Given the description of an element on the screen output the (x, y) to click on. 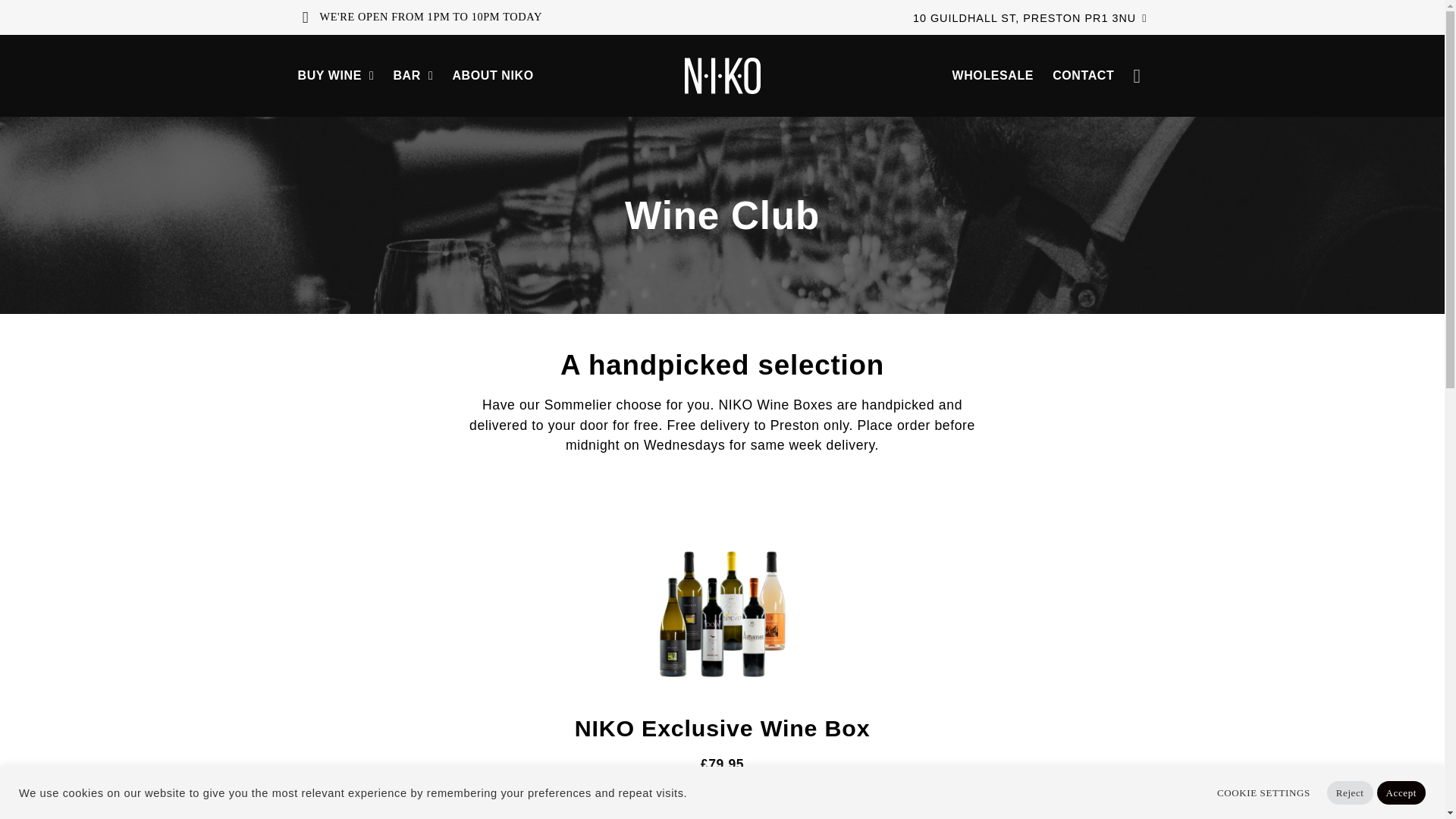
BAR (422, 75)
ABOUT NIKO (501, 75)
WHOLESALE (1002, 75)
BUY WINE (345, 75)
CONTACT (1092, 75)
10 GUILDHALL ST, PRESTON PR1 3NU (1029, 18)
